Given the description of an element on the screen output the (x, y) to click on. 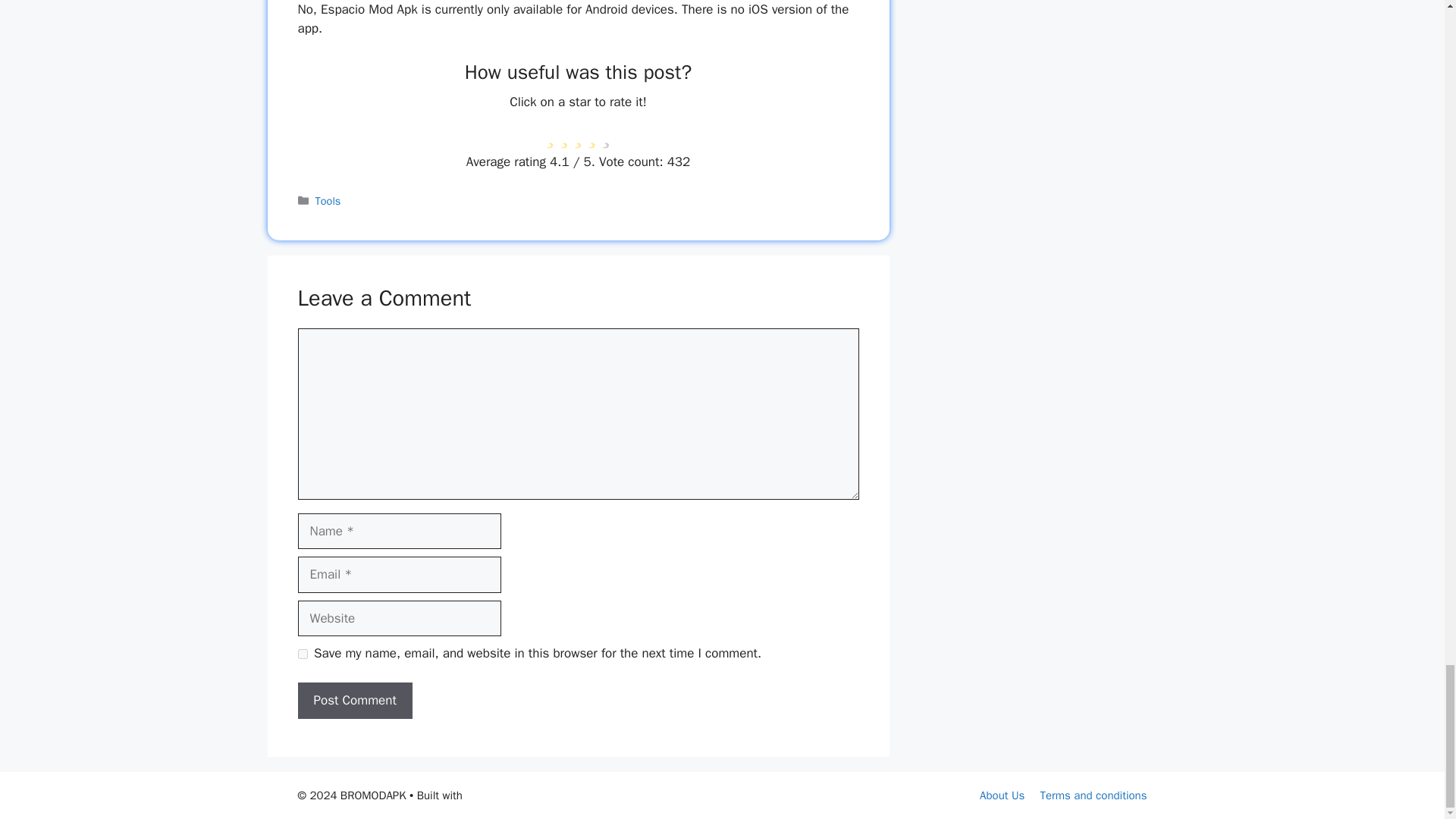
Post Comment (354, 700)
Tools (327, 201)
Post Comment (354, 700)
yes (302, 654)
Terms and conditions (1093, 795)
About Us (1002, 795)
